Given the description of an element on the screen output the (x, y) to click on. 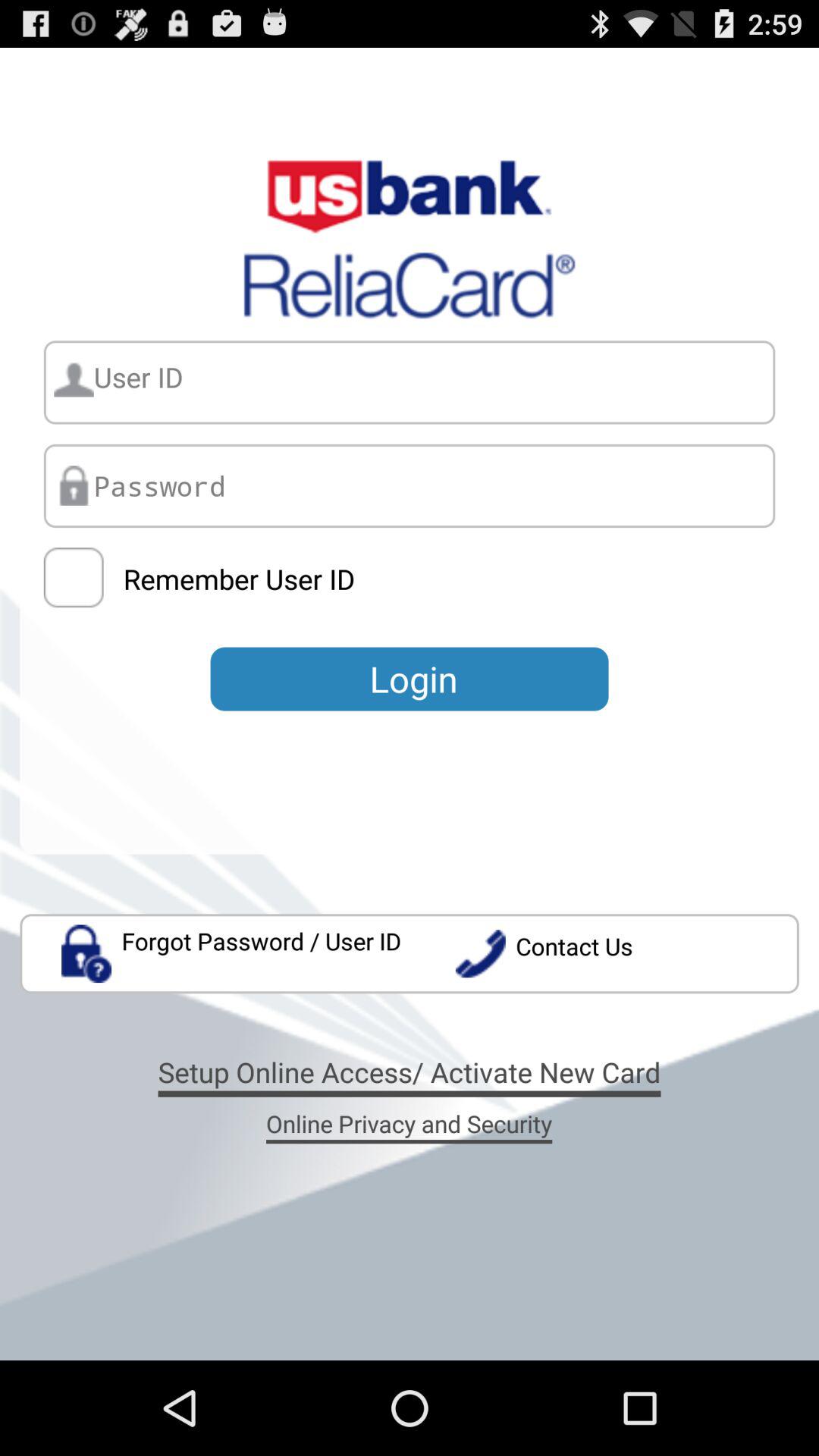
jump until forgot password user (232, 953)
